Given the description of an element on the screen output the (x, y) to click on. 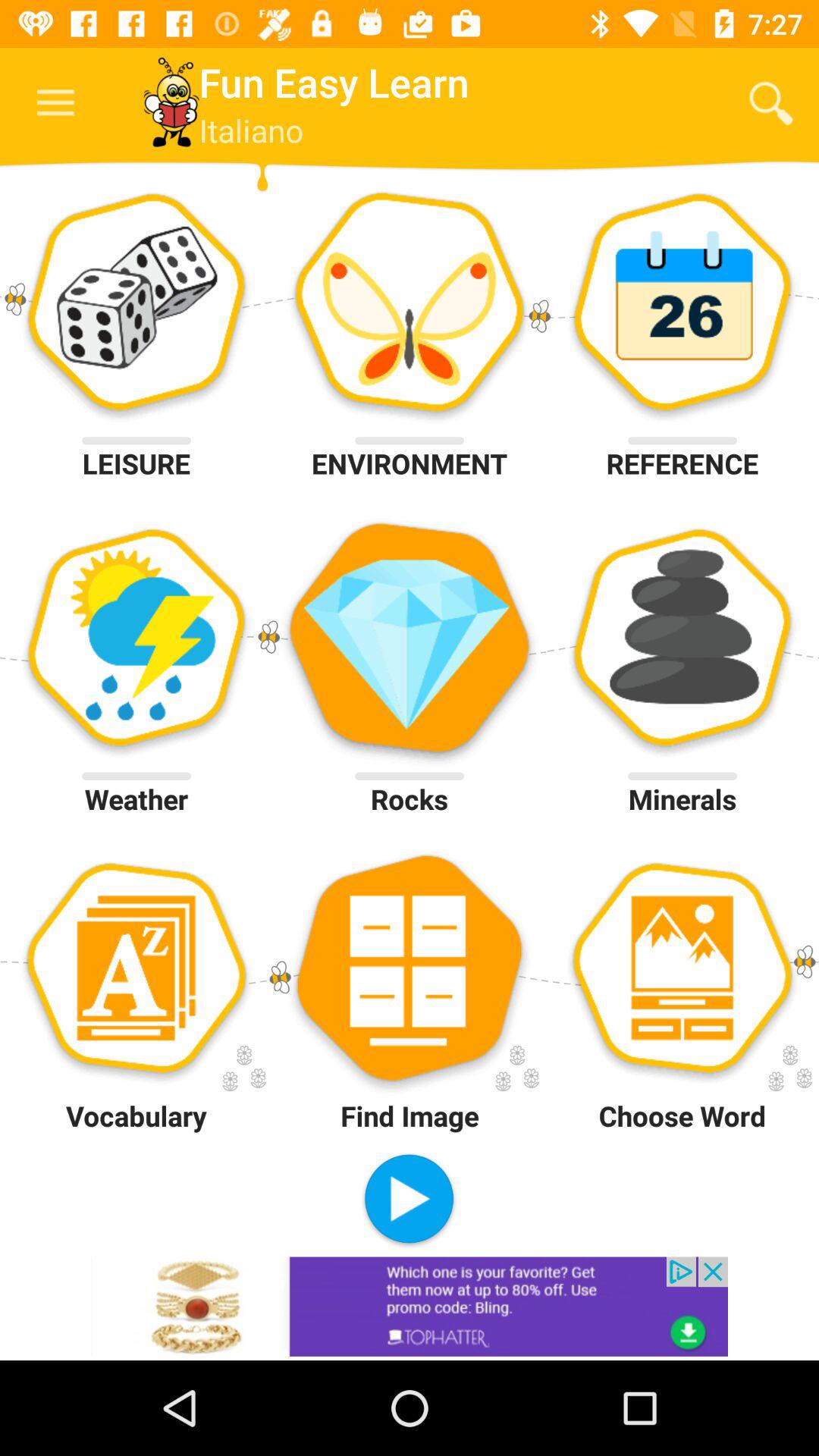
next page (408, 1200)
